Given the description of an element on the screen output the (x, y) to click on. 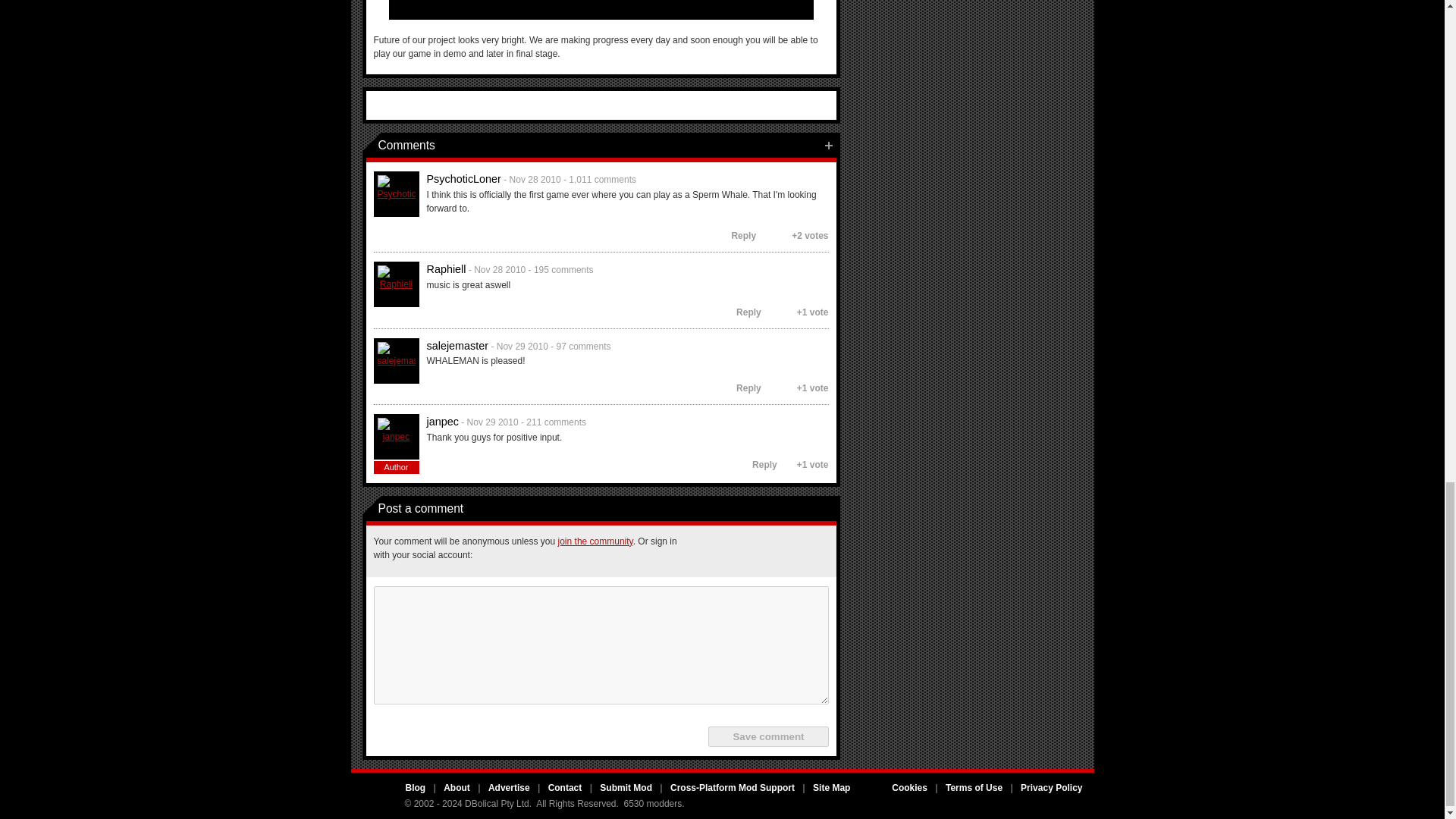
Save comment (767, 736)
PsychoticLoner (395, 194)
Good karma (765, 235)
Reply (736, 235)
Post comment (828, 145)
